Given the description of an element on the screen output the (x, y) to click on. 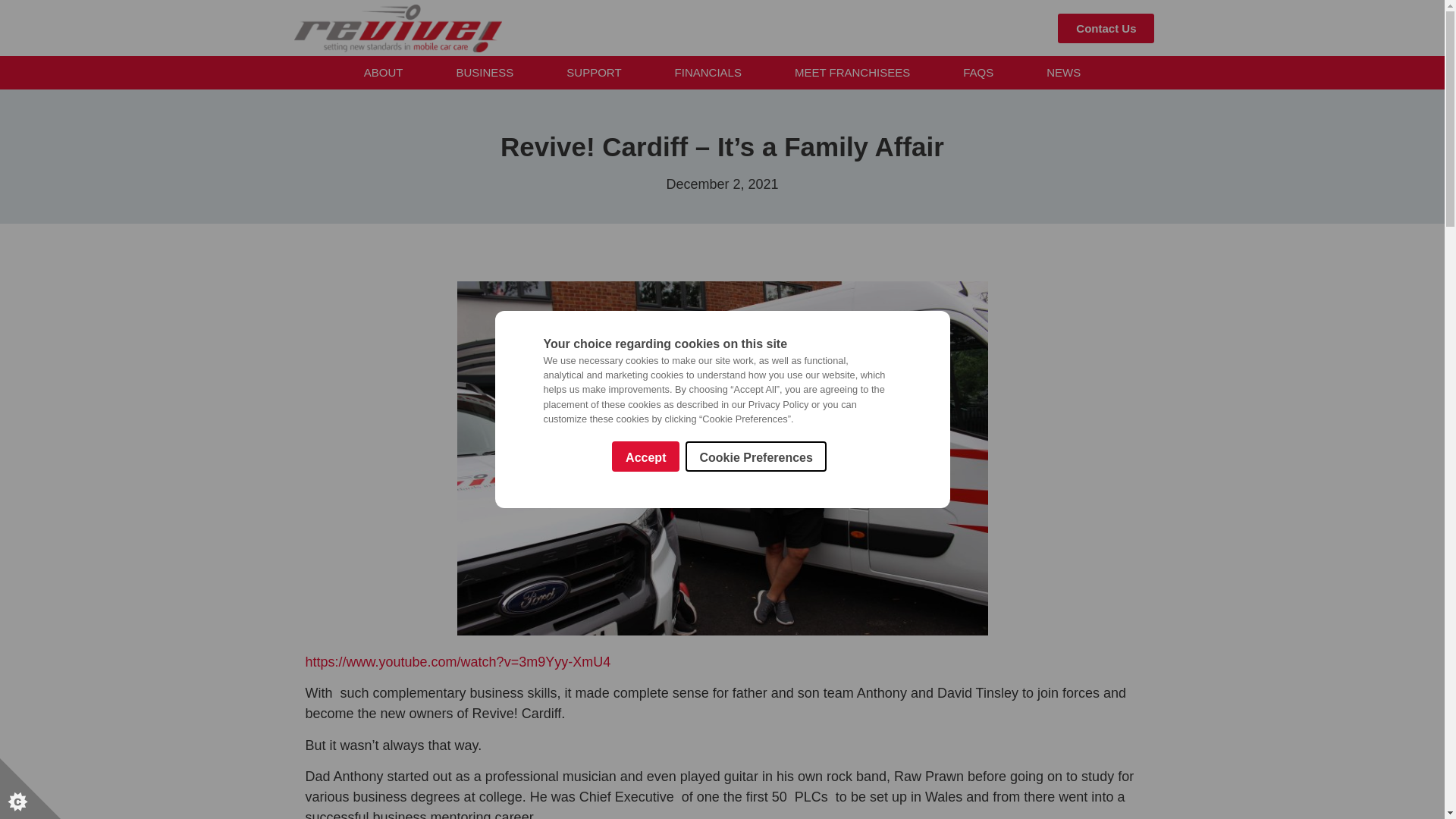
NEWS (1063, 72)
FINANCIALS (708, 72)
ABOUT (383, 72)
Accept (645, 644)
Cookie Preferences (755, 571)
MEET FRANCHISEES (851, 72)
Contact Us (1106, 28)
BUSINESS (484, 72)
REVIVE LOGO (398, 28)
SUPPORT (593, 72)
